Given the description of an element on the screen output the (x, y) to click on. 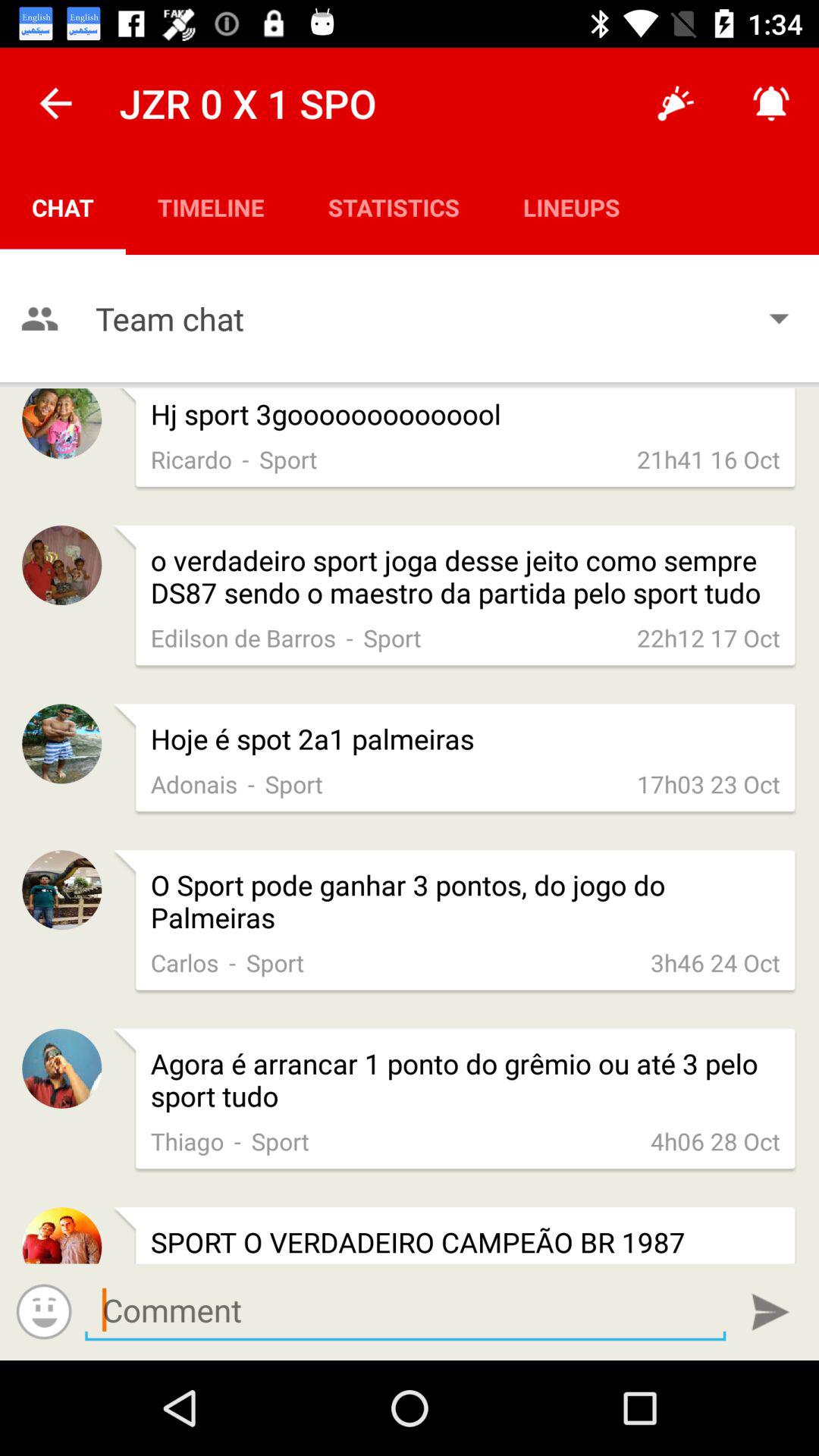
flip to 4h06 28 oct (715, 1140)
